Given the description of an element on the screen output the (x, y) to click on. 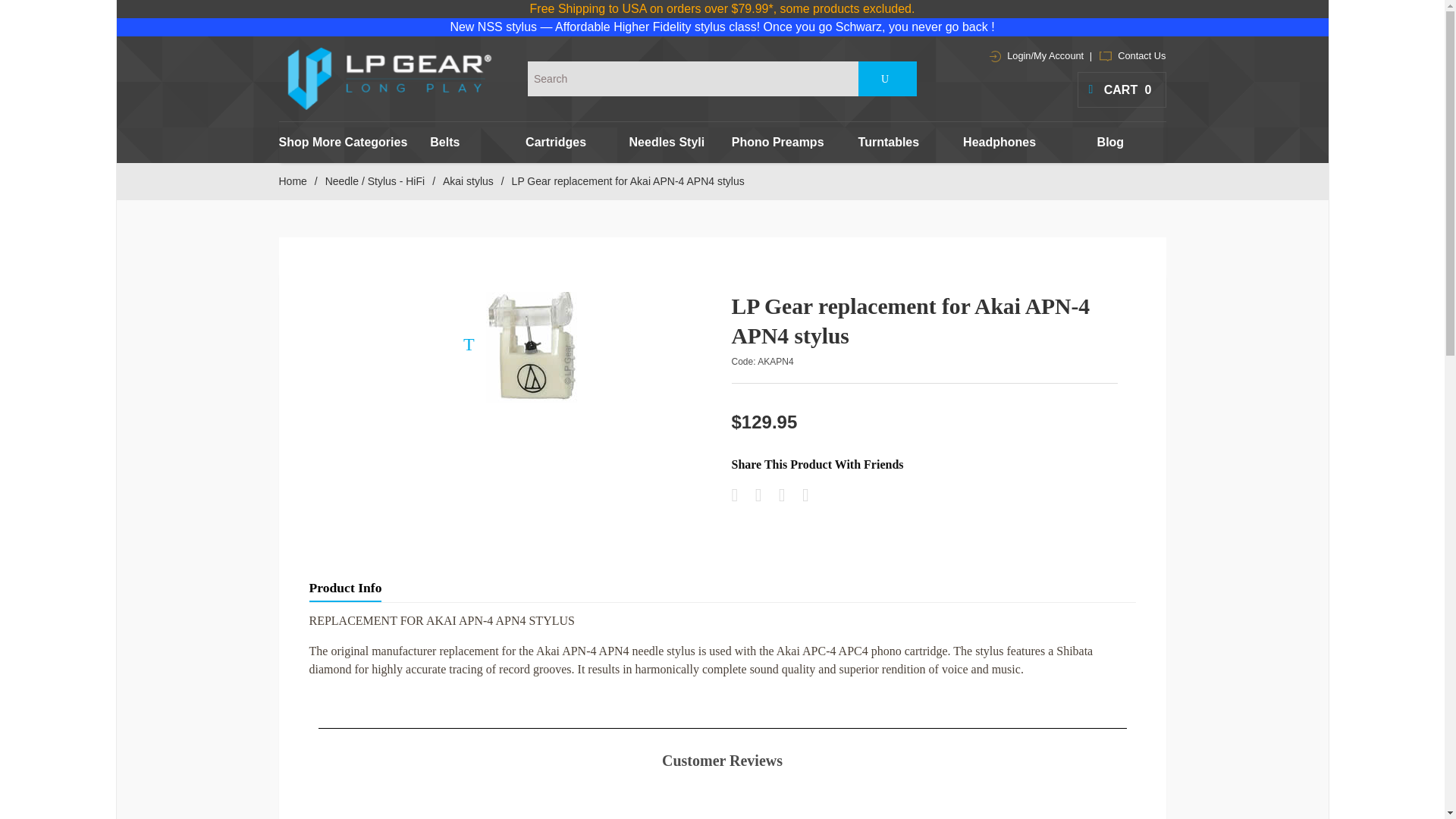
Akai stylus (467, 181)
Belts (445, 142)
Cartridges (555, 142)
Welcome to LP Gear (390, 78)
Needles Styli (666, 142)
LP Gear (389, 78)
Turntables (887, 142)
Contact Us (1132, 55)
CART 0 (1121, 89)
Home (293, 181)
